Given the description of an element on the screen output the (x, y) to click on. 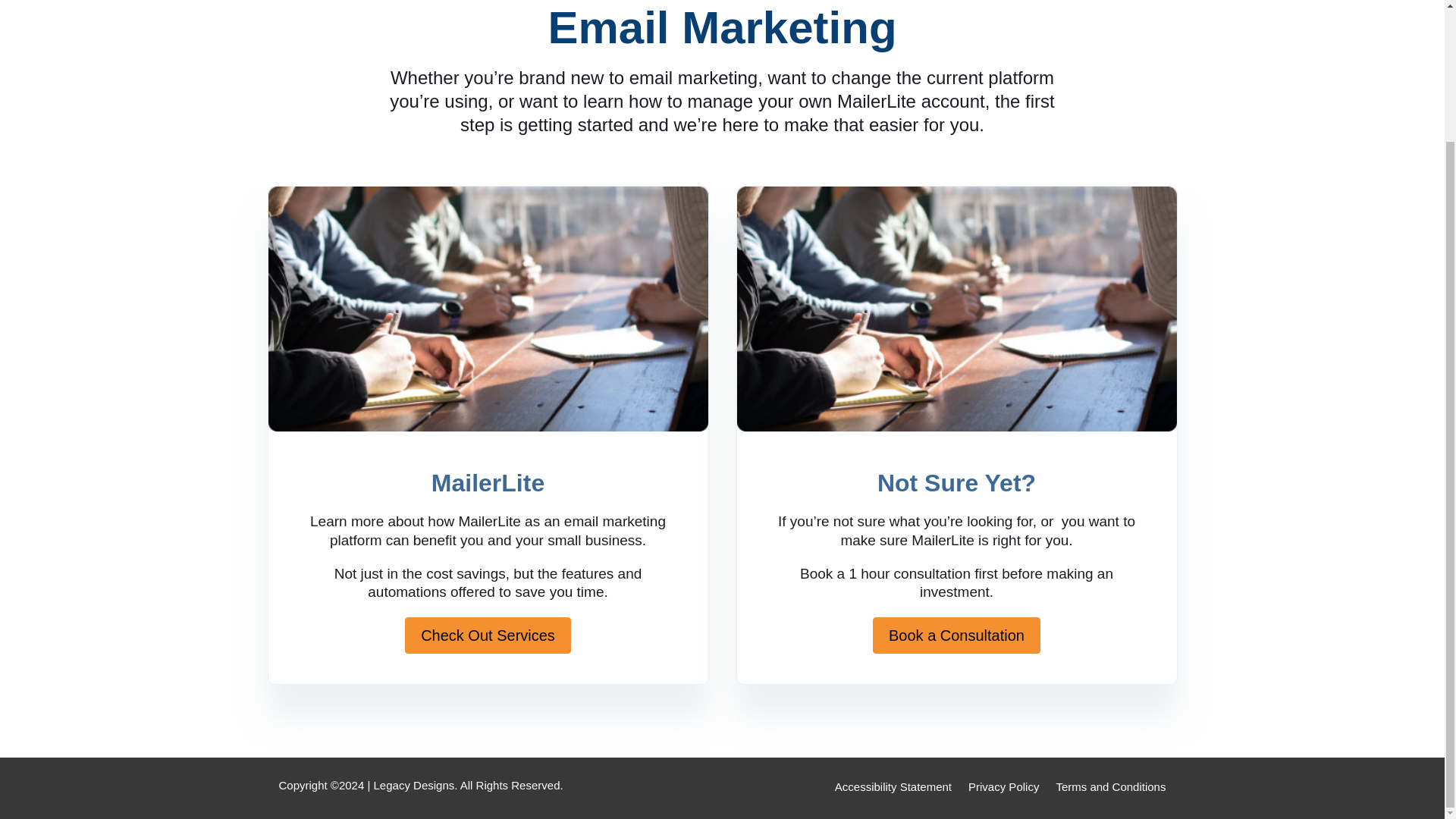
Privacy Policy (1003, 783)
Accessibility Statement (893, 783)
Book a Consultation (956, 635)
Terms and Conditions (1110, 783)
Check Out Services (487, 635)
